Given the description of an element on the screen output the (x, y) to click on. 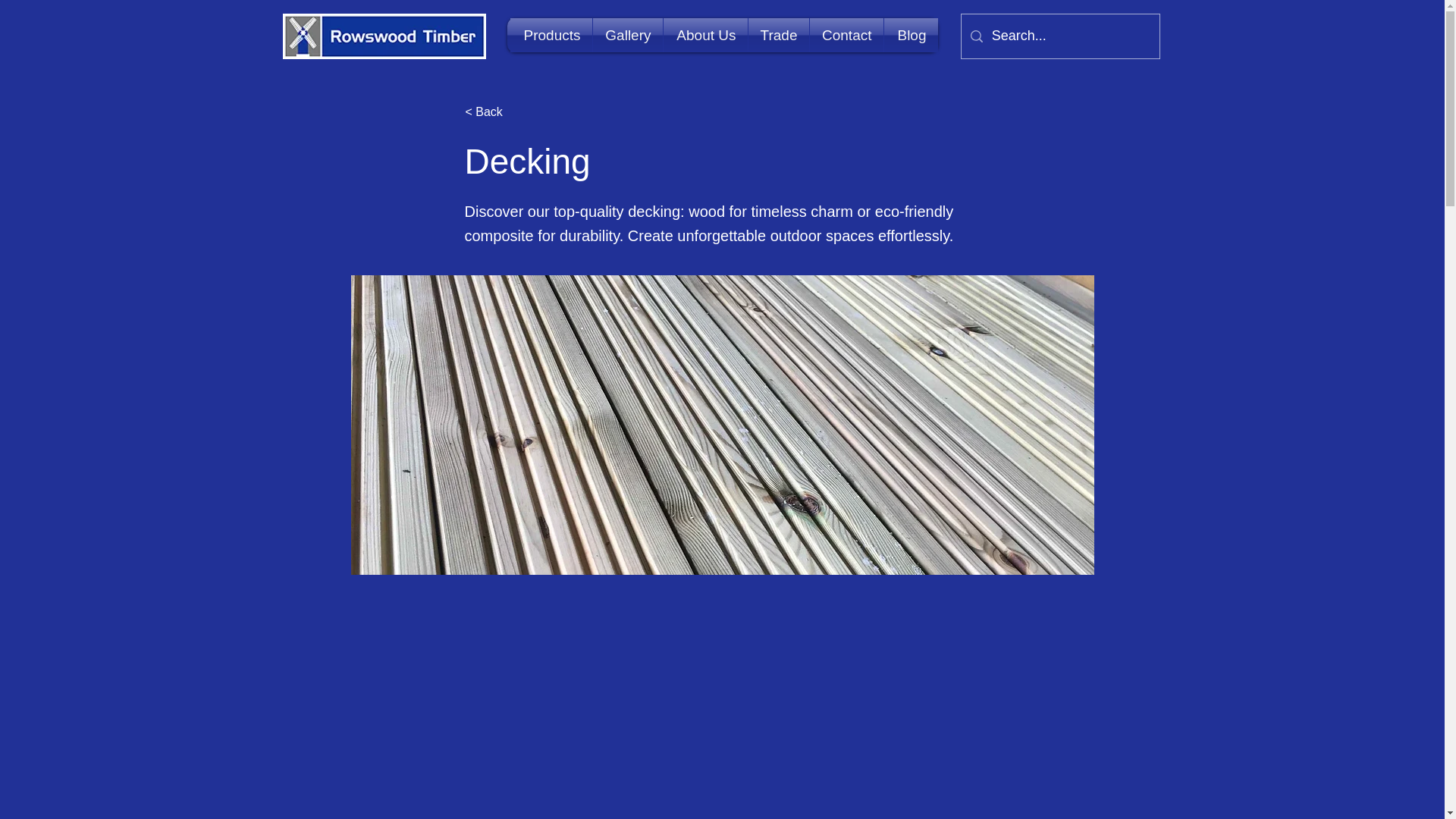
Products (550, 35)
Gallery (627, 35)
Trade (778, 35)
Contact (846, 35)
About Us (704, 35)
Blog (910, 35)
